Given the description of an element on the screen output the (x, y) to click on. 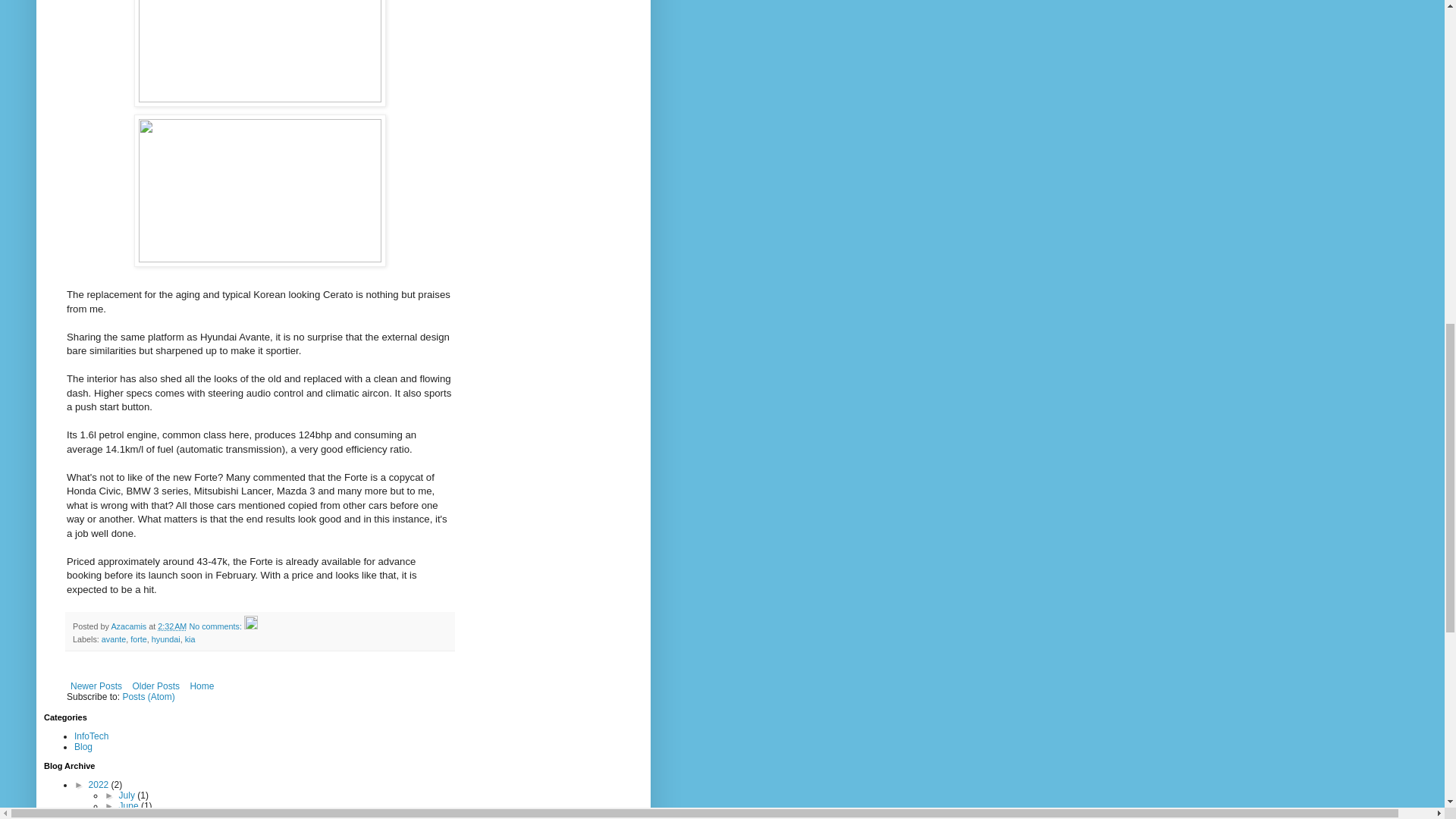
Blog (83, 747)
forte (139, 638)
Older Posts (155, 686)
author profile (129, 625)
permanent link (171, 625)
June (130, 805)
July (128, 795)
Newer Posts (95, 686)
avante (113, 638)
Home (201, 686)
Newer Posts (95, 686)
Azacamis (129, 625)
2022 (100, 784)
InfoTech (90, 736)
